Given the description of an element on the screen output the (x, y) to click on. 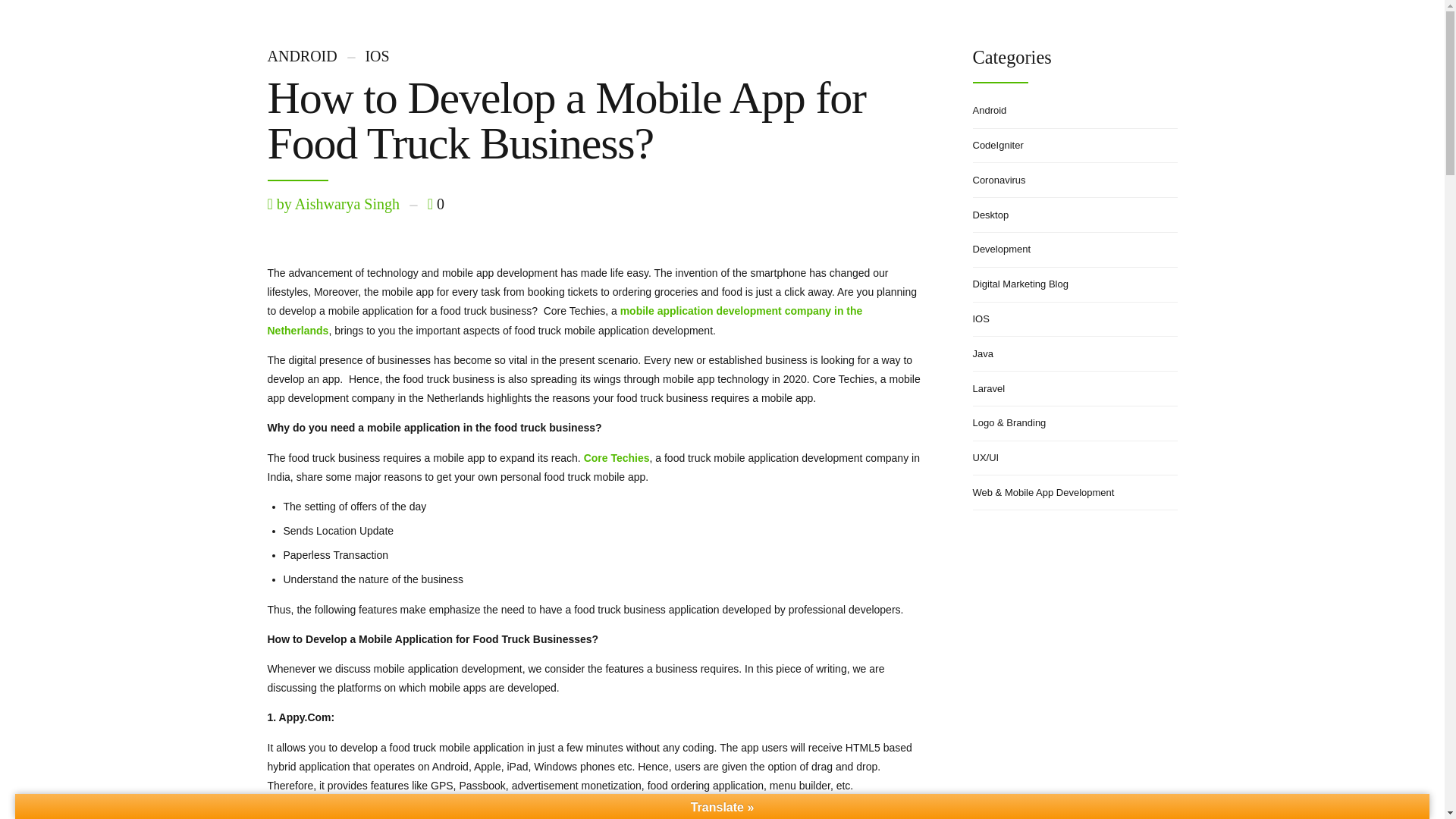
0 (436, 203)
by Aishwarya Singh (337, 203)
mobile application development company in the Netherlands (563, 319)
ANDROID (301, 55)
IOS (363, 55)
Core Techies (616, 458)
